Given the description of an element on the screen output the (x, y) to click on. 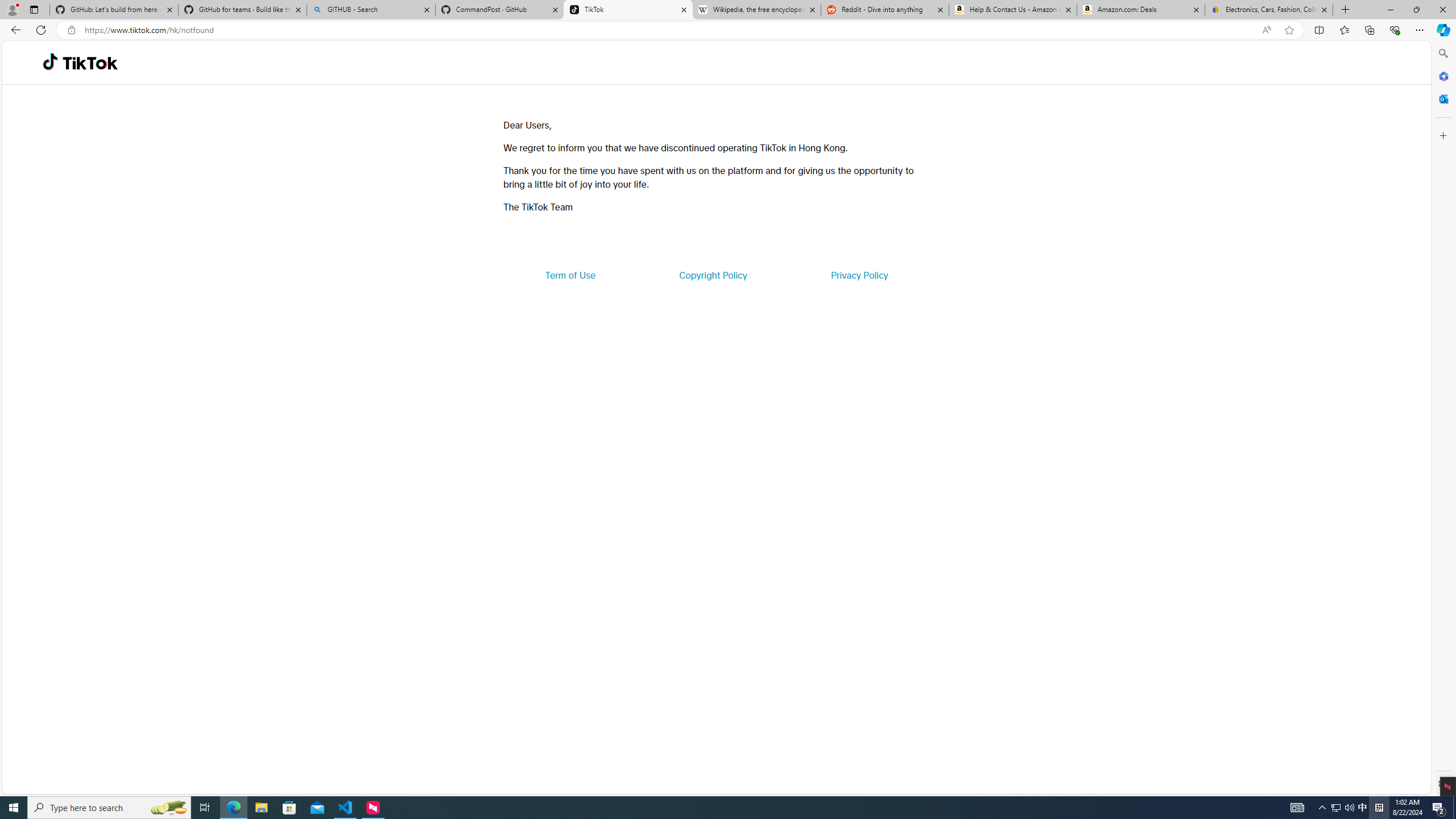
Address and search bar (669, 29)
Side bar (1443, 418)
Wikipedia, the free encyclopedia (756, 9)
App bar (728, 29)
